Given the description of an element on the screen output the (x, y) to click on. 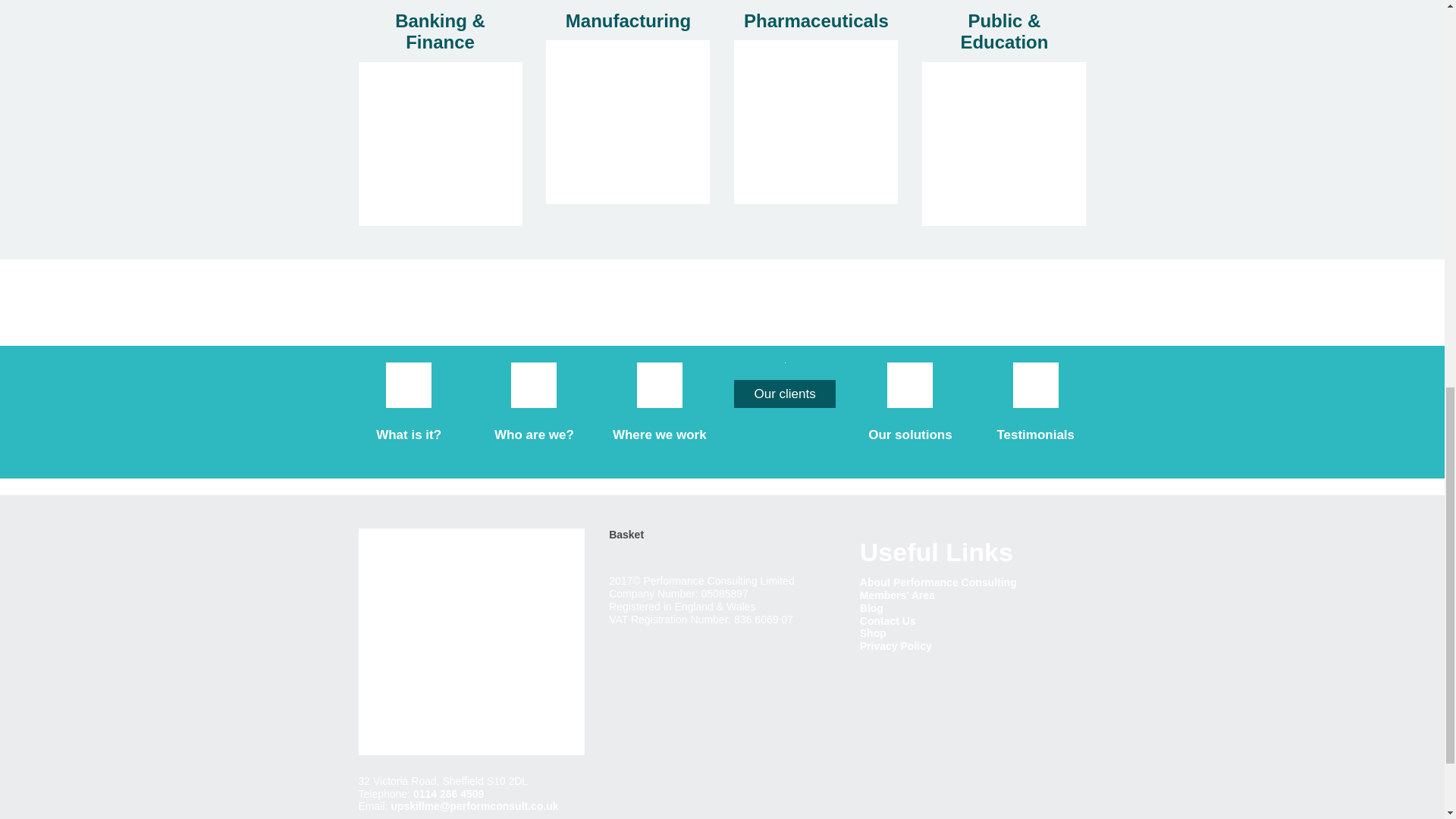
Where we work (659, 434)
Testimonials (1034, 434)
Who are we? (534, 434)
Our solutions (909, 434)
What is it? (408, 434)
